Given the description of an element on the screen output the (x, y) to click on. 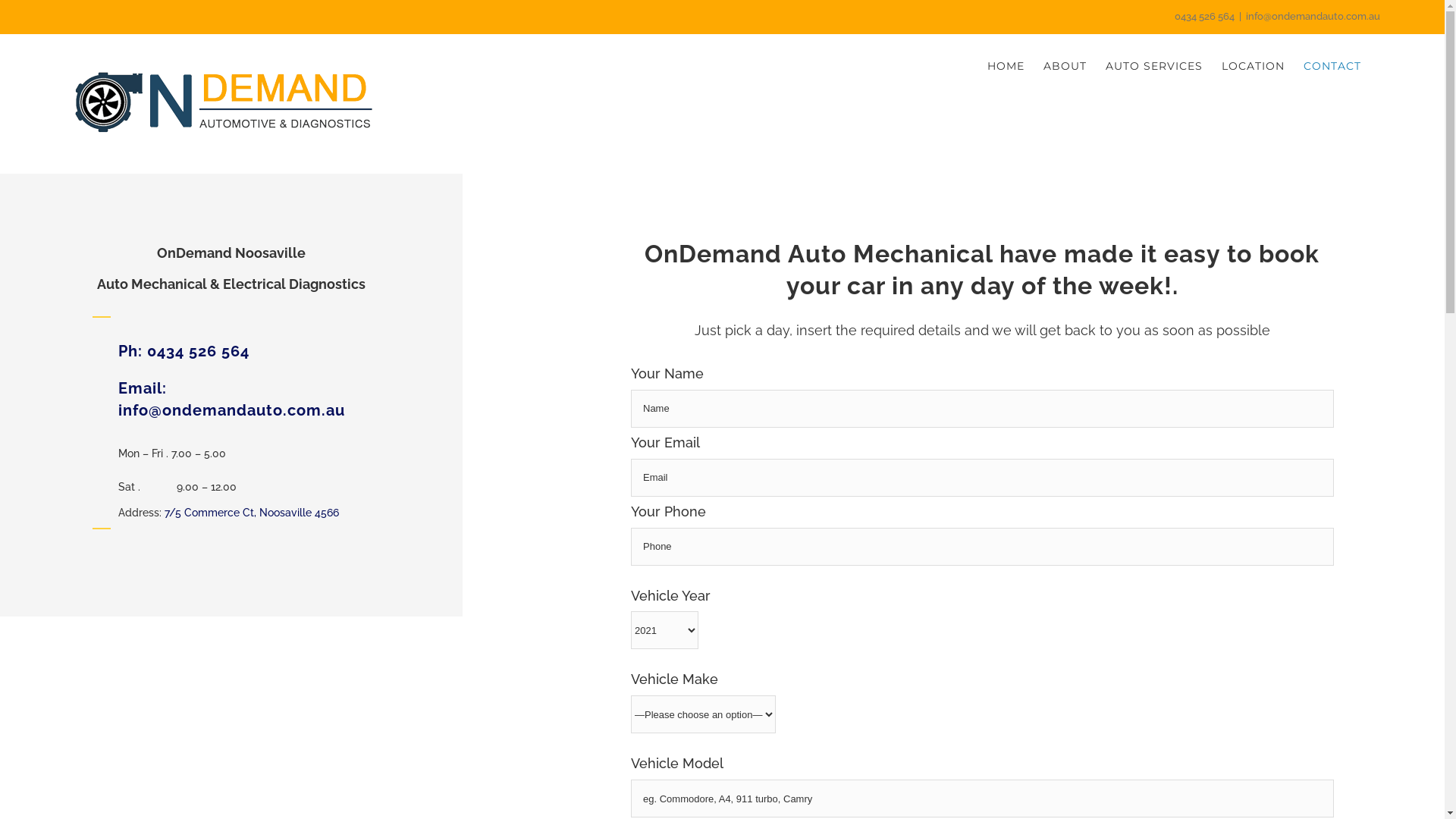
7/5 Commerce Ct, Noosaville 4566 Element type: text (250, 512)
0434 526 564 Element type: text (1204, 15)
info@ondemandauto.com.au Element type: text (1312, 15)
Email: info@ondemandauto.com.au Element type: text (231, 399)
Ph: 0434 526 564 Element type: text (183, 351)
CONTACT Element type: text (1332, 65)
ABOUT Element type: text (1064, 65)
LOCATION Element type: text (1252, 65)
HOME Element type: text (1005, 65)
AUTO SERVICES Element type: text (1153, 65)
